Given the description of an element on the screen output the (x, y) to click on. 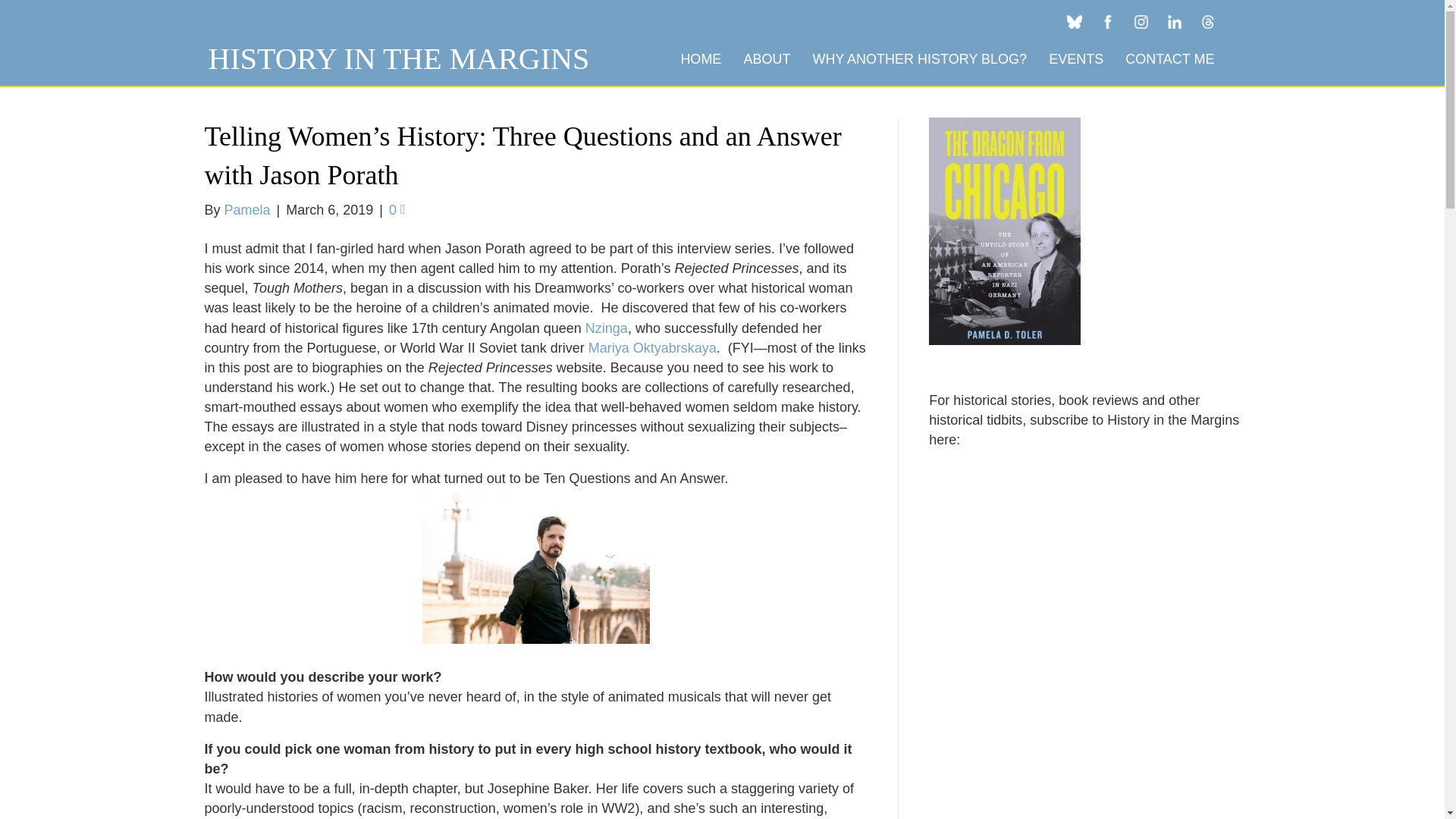
threads (1208, 21)
facebook (1108, 21)
linkedin (1174, 21)
0 (397, 209)
Mariya Oktyabrskaya (652, 347)
Nzinga (606, 328)
ABOUT (766, 58)
instagram (1141, 21)
HISTORY IN THE MARGINS (398, 58)
bluesky (1074, 21)
